Given the description of an element on the screen output the (x, y) to click on. 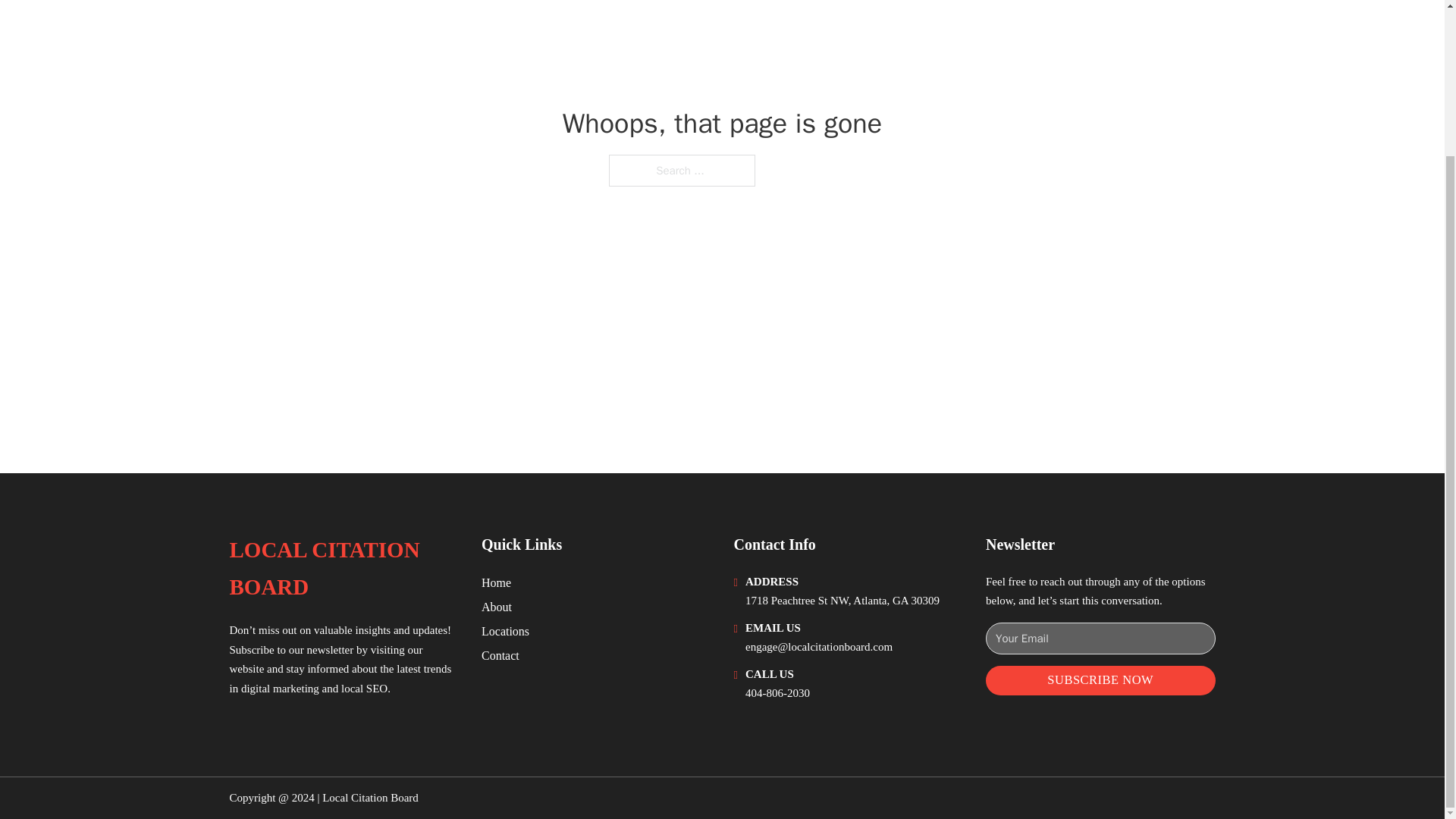
Home (496, 582)
LOCAL CITATION BOARD (343, 568)
About (496, 607)
SUBSCRIBE NOW (1100, 680)
Locations (505, 630)
404-806-2030 (777, 693)
Contact (500, 655)
